Given the description of an element on the screen output the (x, y) to click on. 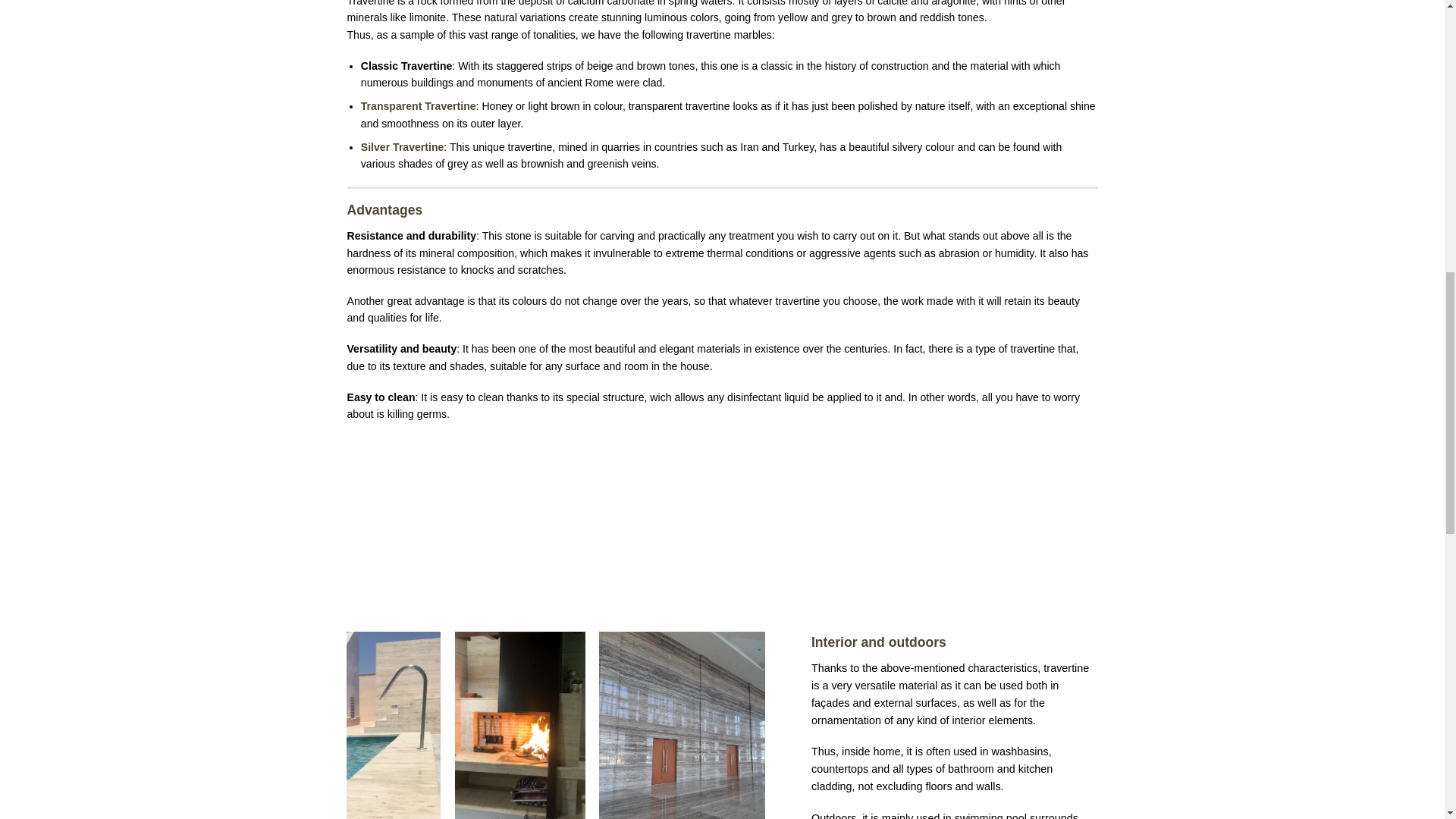
Transparent Travertine (418, 105)
Silver Travertine (402, 146)
